Given the description of an element on the screen output the (x, y) to click on. 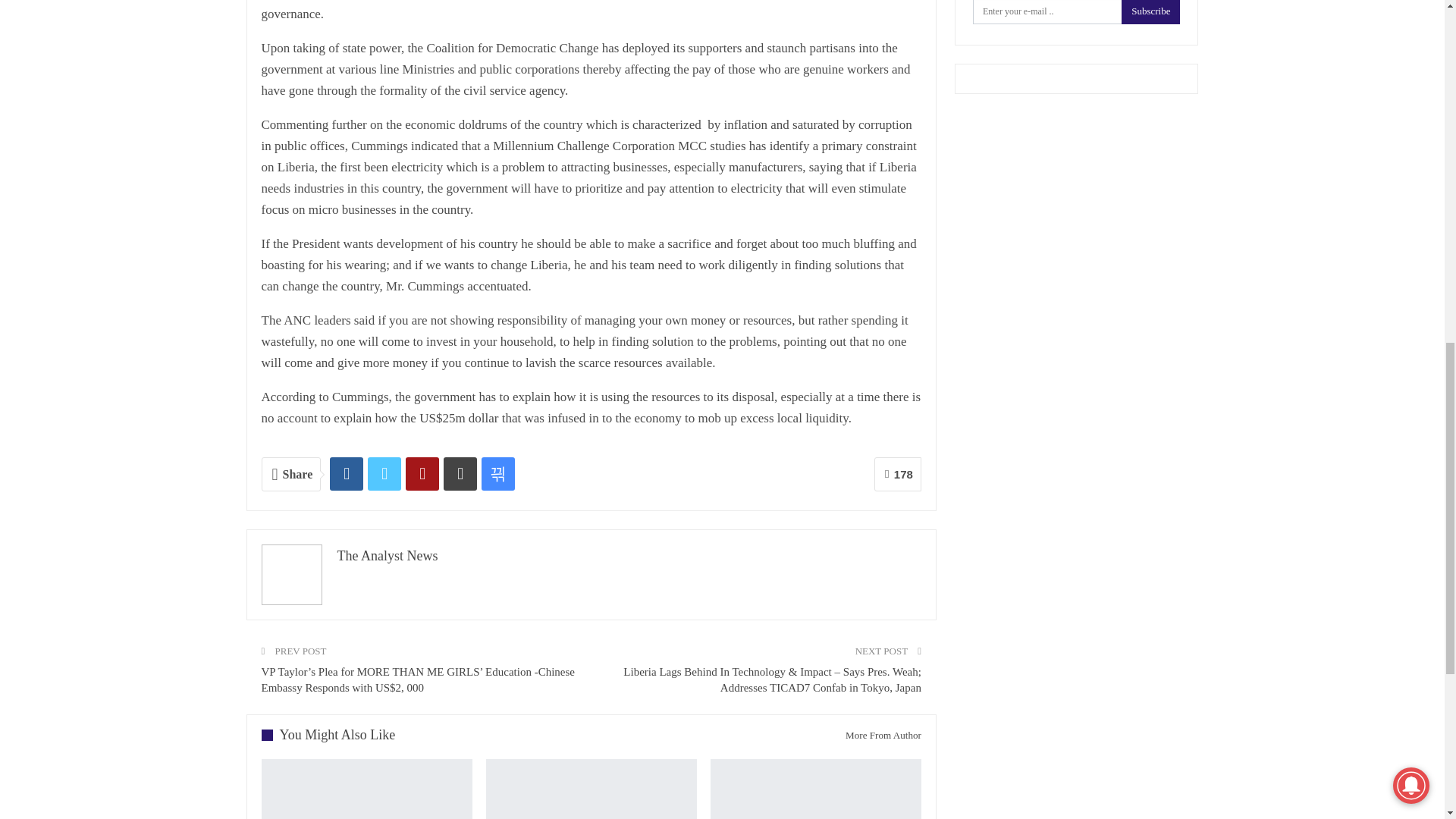
More From Author (876, 735)
You Might Also Like (333, 735)
LERC Licenses New Energy Group (815, 789)
The Analyst News (387, 555)
